Given the description of an element on the screen output the (x, y) to click on. 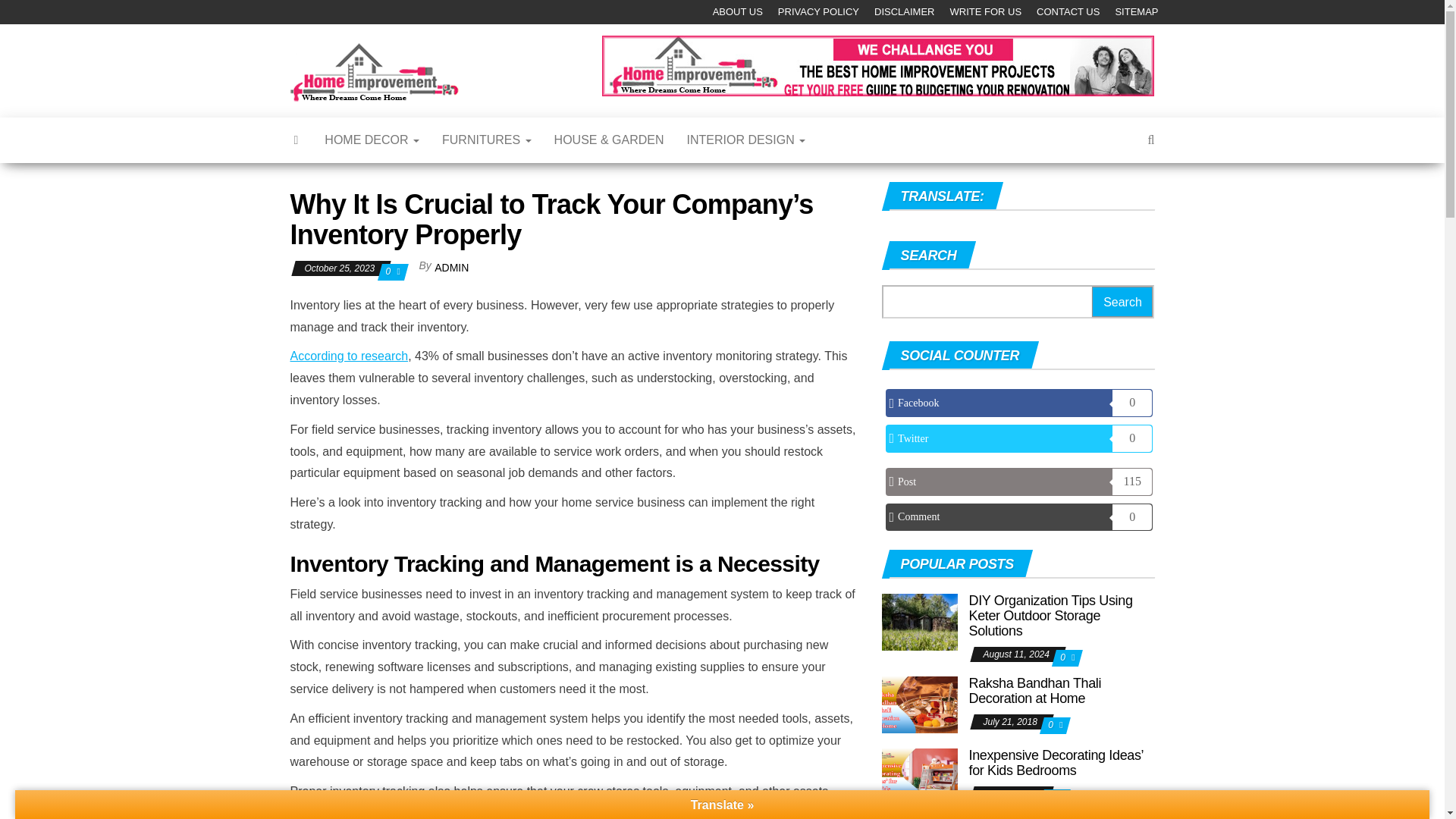
About Us (737, 12)
WRITE FOR US (985, 12)
Home Decor (371, 139)
HOME DECOR (371, 139)
SITEMAP (1136, 12)
PRIVACY POLICY (818, 12)
Privacy Policy (818, 12)
Home Improvements (520, 78)
According to research (348, 355)
FURNITURES (486, 139)
